Given the description of an element on the screen output the (x, y) to click on. 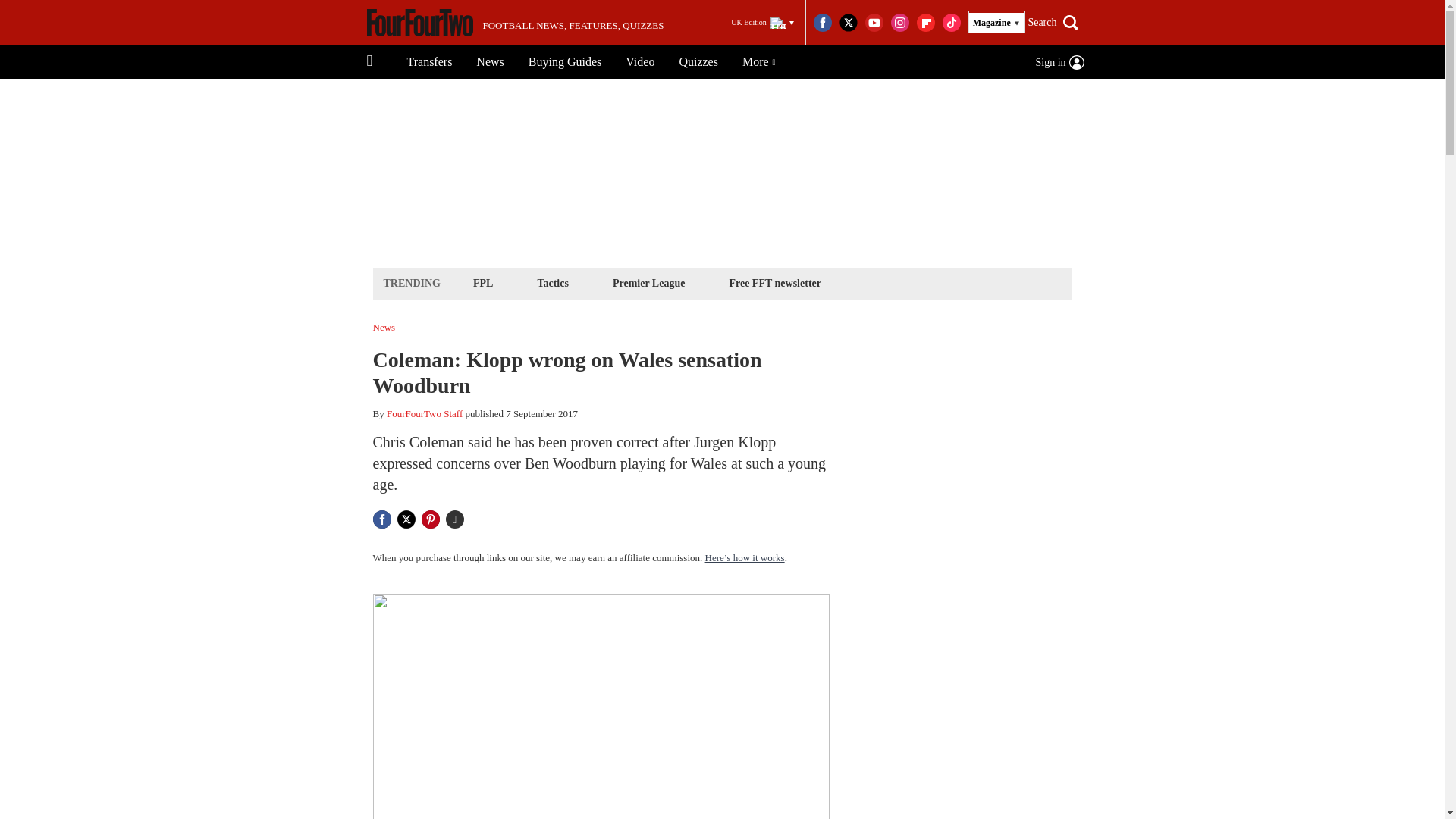
Transfers (429, 61)
Buying Guides (564, 61)
Free FFT newsletter (775, 282)
News (489, 61)
Tactics (552, 282)
FPL (482, 282)
UK Edition (761, 22)
Video (639, 61)
Premier League (648, 282)
FourFourTwo Staff (425, 413)
